Given the description of an element on the screen output the (x, y) to click on. 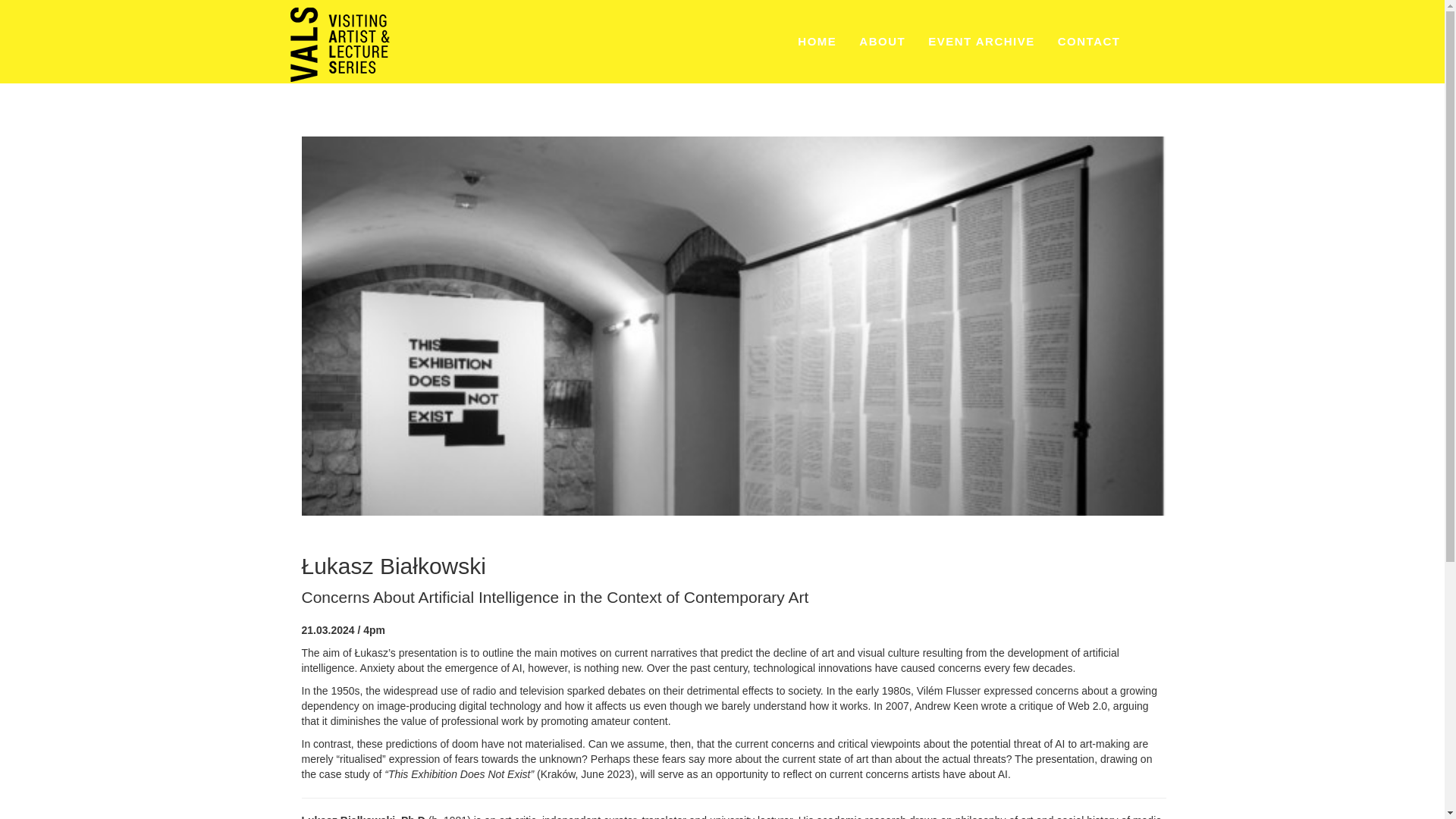
HOME (816, 43)
ABOUT (882, 43)
CONTACT (1089, 43)
EVENT ARCHIVE (981, 43)
